Given the description of an element on the screen output the (x, y) to click on. 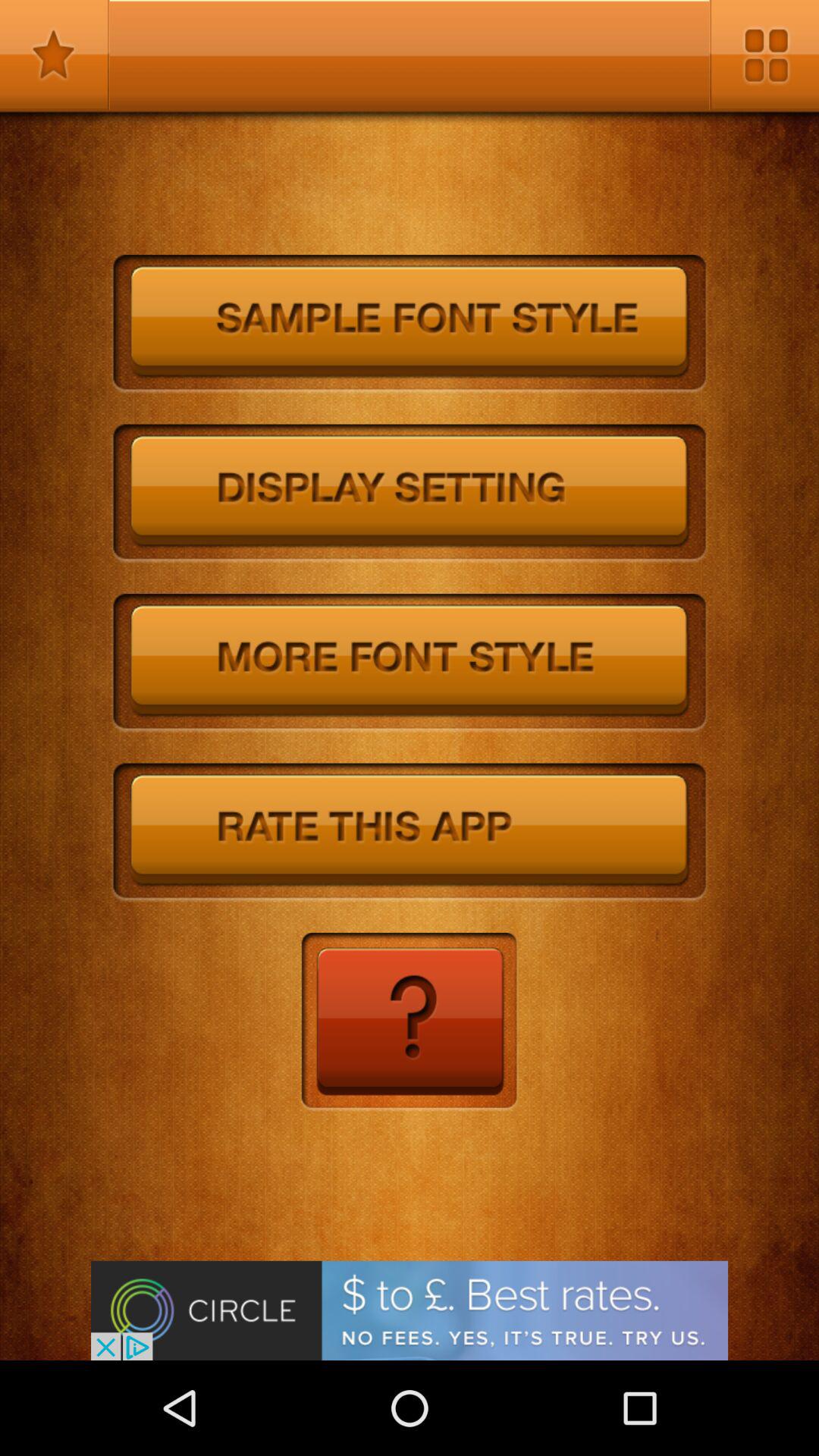
sample font style (409, 324)
